Given the description of an element on the screen output the (x, y) to click on. 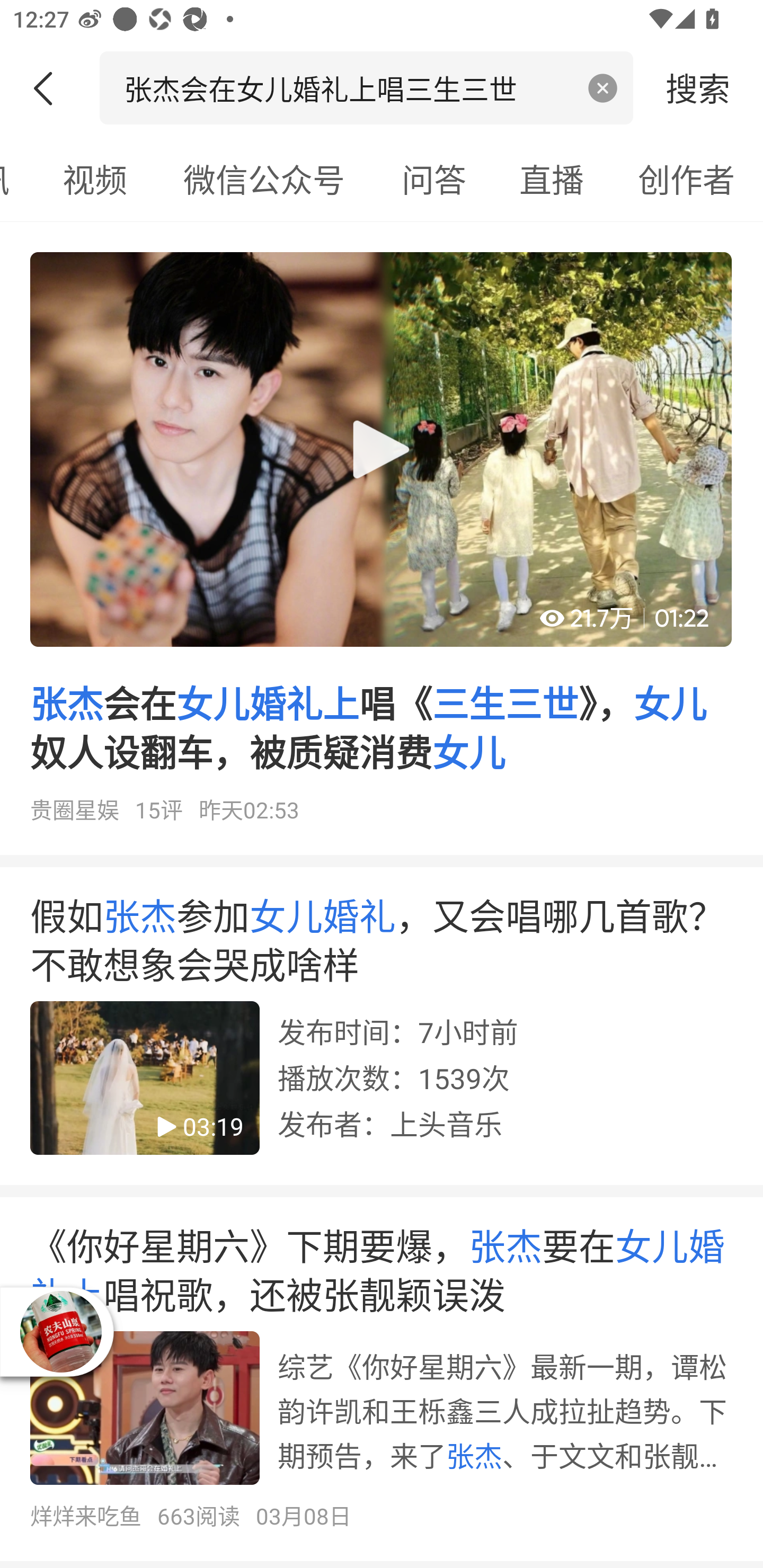
返回 (49, 87)
搜索 (698, 87)
张杰会在女儿婚礼上唱三生三世 (347, 87)
清空 (602, 88)
视频，可选中 (94, 179)
微信公众号，可选中 (264, 179)
问答，可选中 (433, 179)
直播，可选中 (551, 179)
创作者，可选中 (686, 179)
张杰会在女儿婚礼上唱《三生三世》，女儿奴人设翻车，被质疑消费女儿 (381, 544)
假如张杰参加女儿婚礼，又会唱哪几首歌？不敢想象会哭成啥样 (381, 1032)
播放器 (60, 1331)
